Given the description of an element on the screen output the (x, y) to click on. 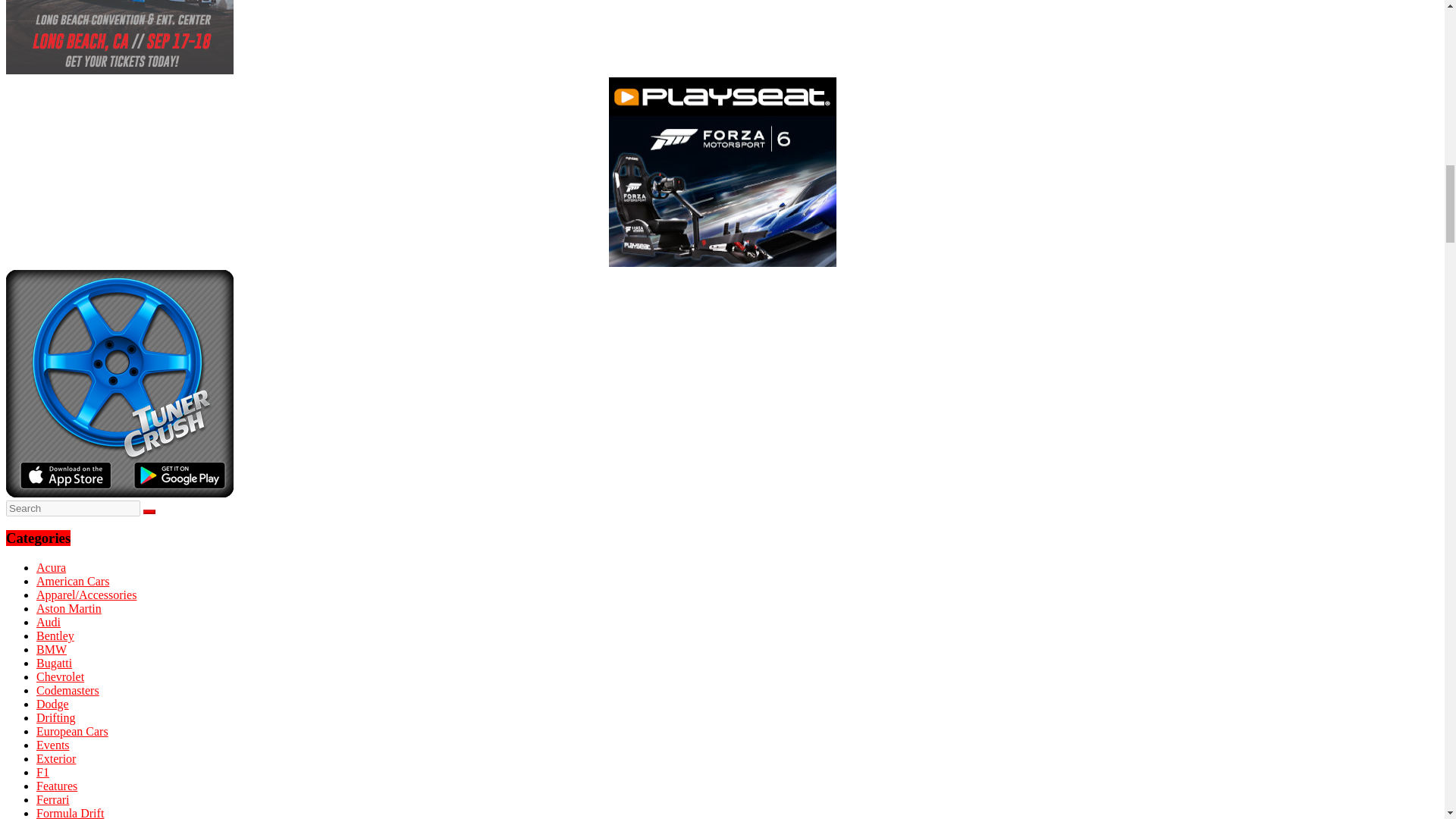
Playseat America (721, 171)
